Given the description of an element on the screen output the (x, y) to click on. 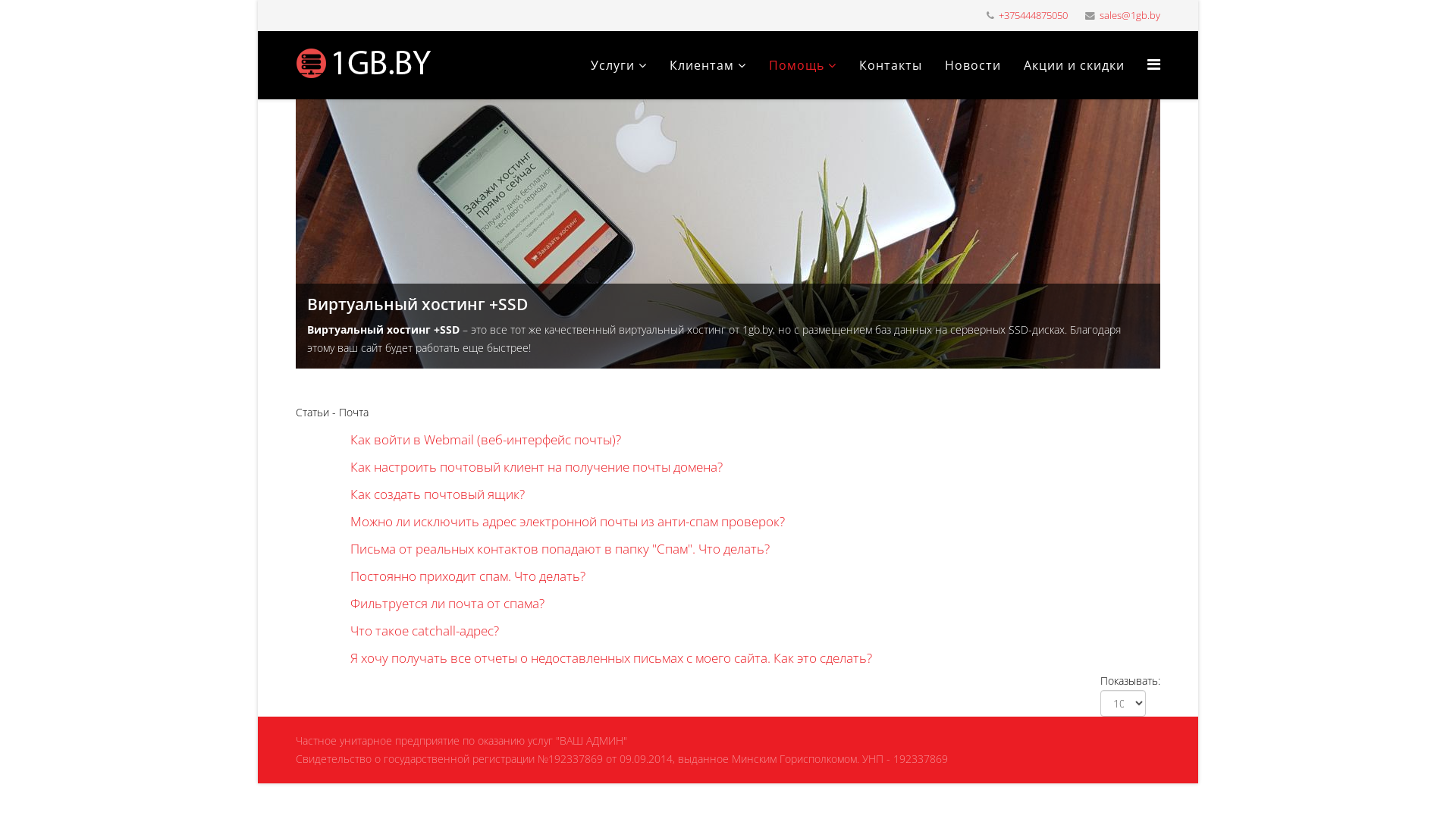
sales@1gb.by Element type: text (1129, 15)
+375444875050 Element type: text (1032, 15)
